Given the description of an element on the screen output the (x, y) to click on. 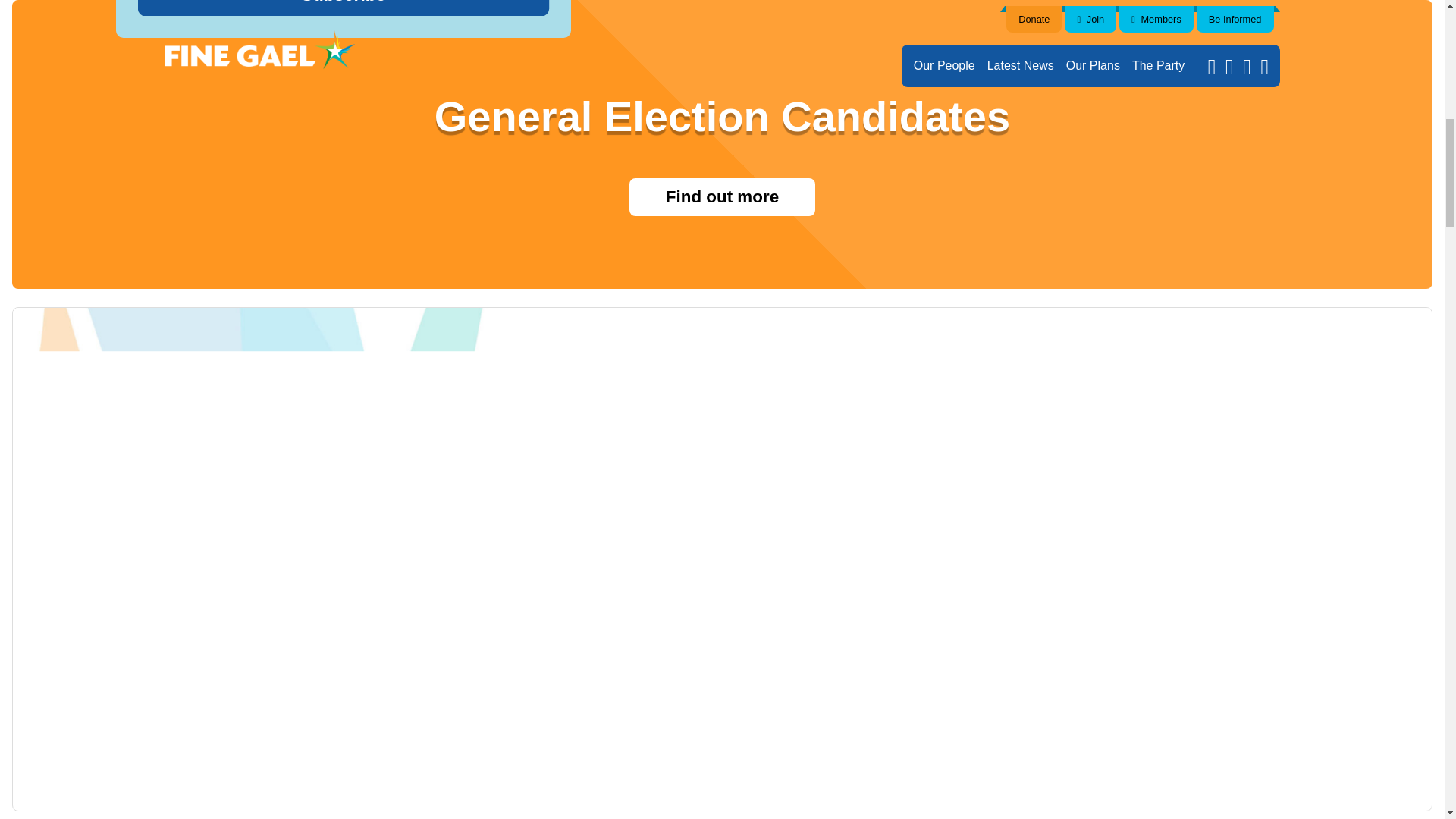
Find out more (721, 197)
Subscribe (308, 4)
